Given the description of an element on the screen output the (x, y) to click on. 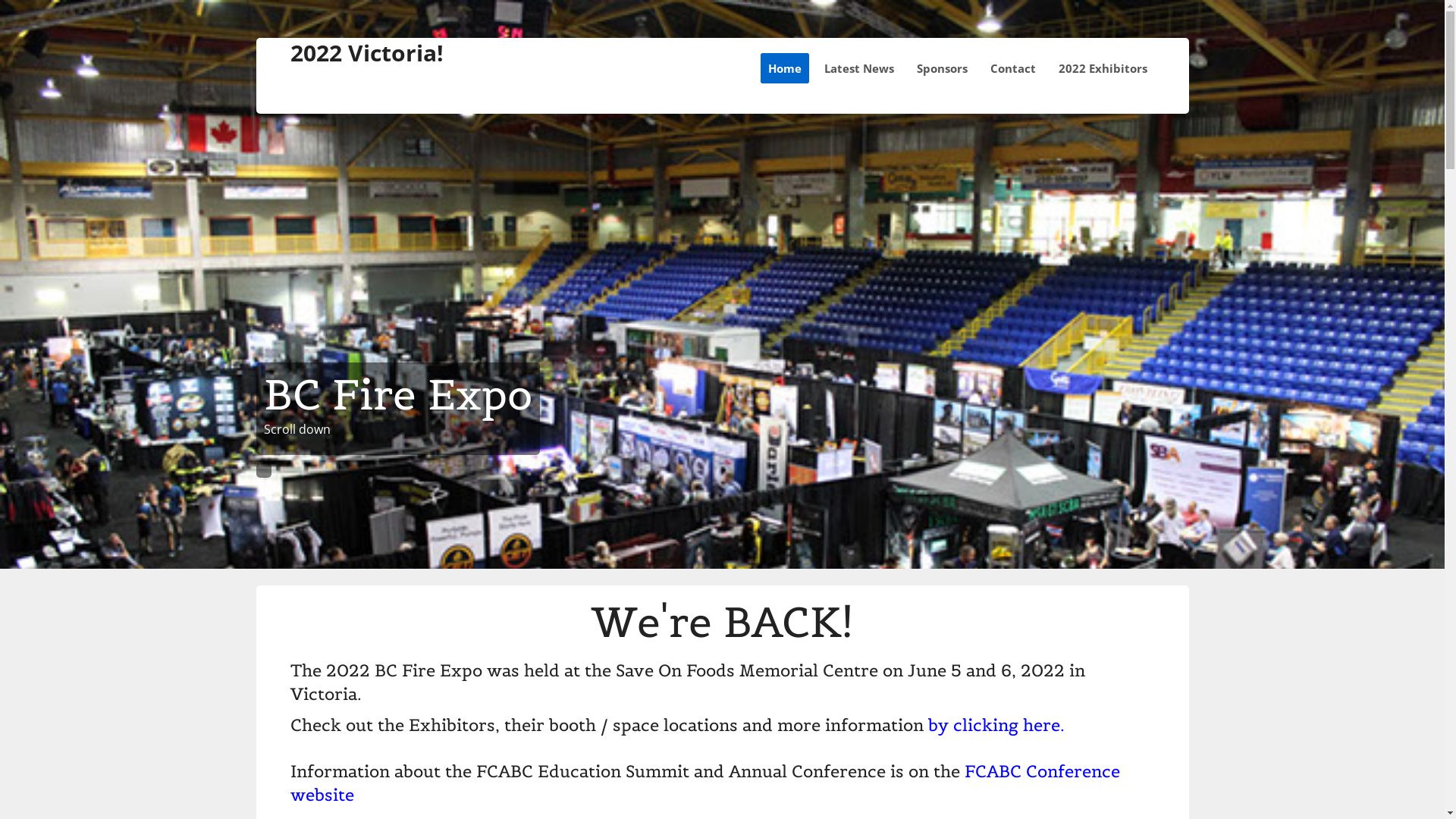
by clicking here. Element type: text (996, 724)
Home Element type: text (783, 68)
2022 Exhibitors Element type: text (1102, 68)
FCABC Conference website Element type: text (704, 782)
Contact Element type: text (1012, 68)
Latest News Element type: text (857, 68)
Sponsors Element type: text (941, 68)
